Given the description of an element on the screen output the (x, y) to click on. 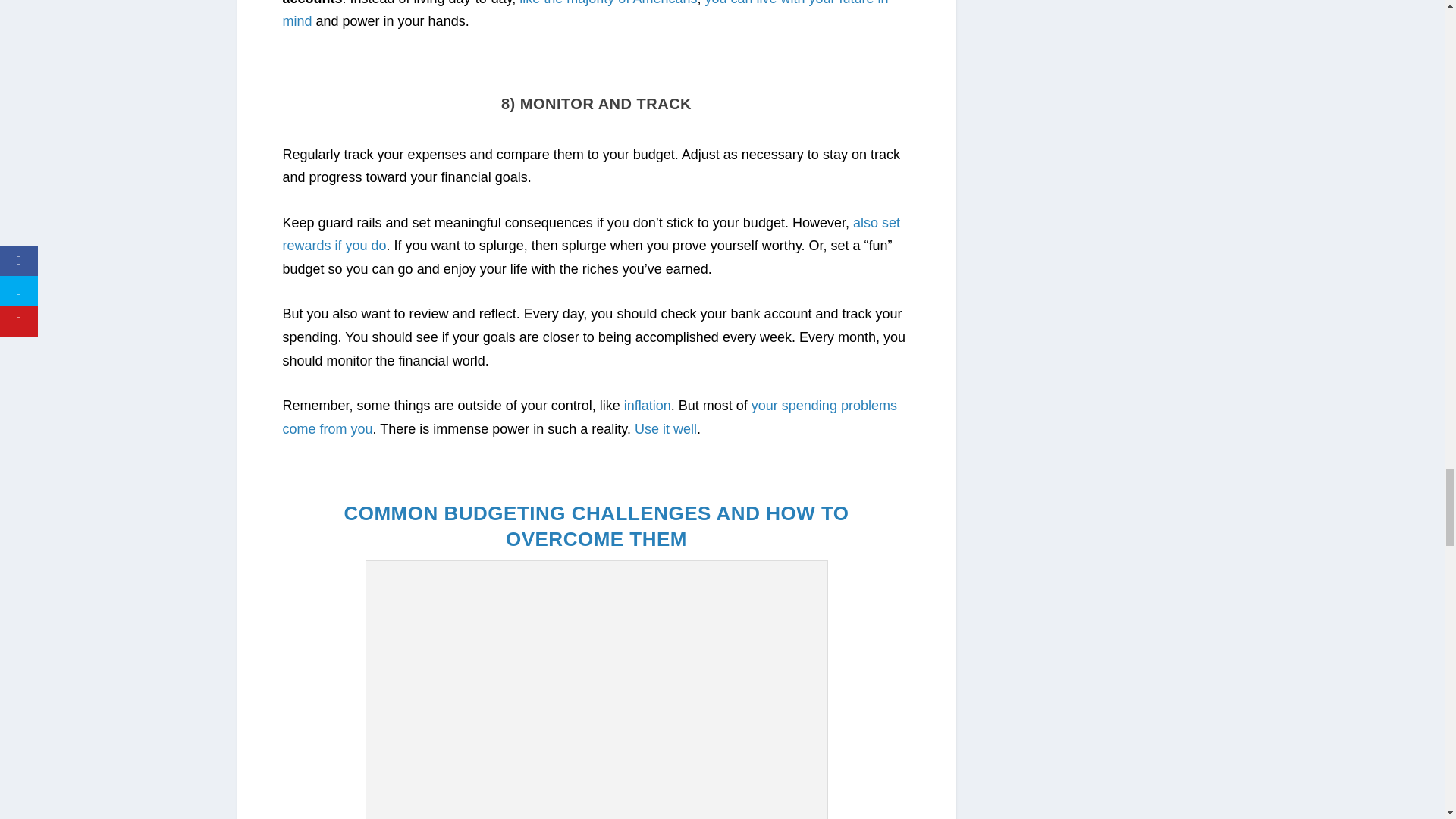
like the majority of Americans (608, 2)
Use it well (665, 428)
inflation (647, 405)
you can live with your future in mind (585, 14)
your spending problems come from you (589, 417)
also set rewards if you do (590, 234)
